Given the description of an element on the screen output the (x, y) to click on. 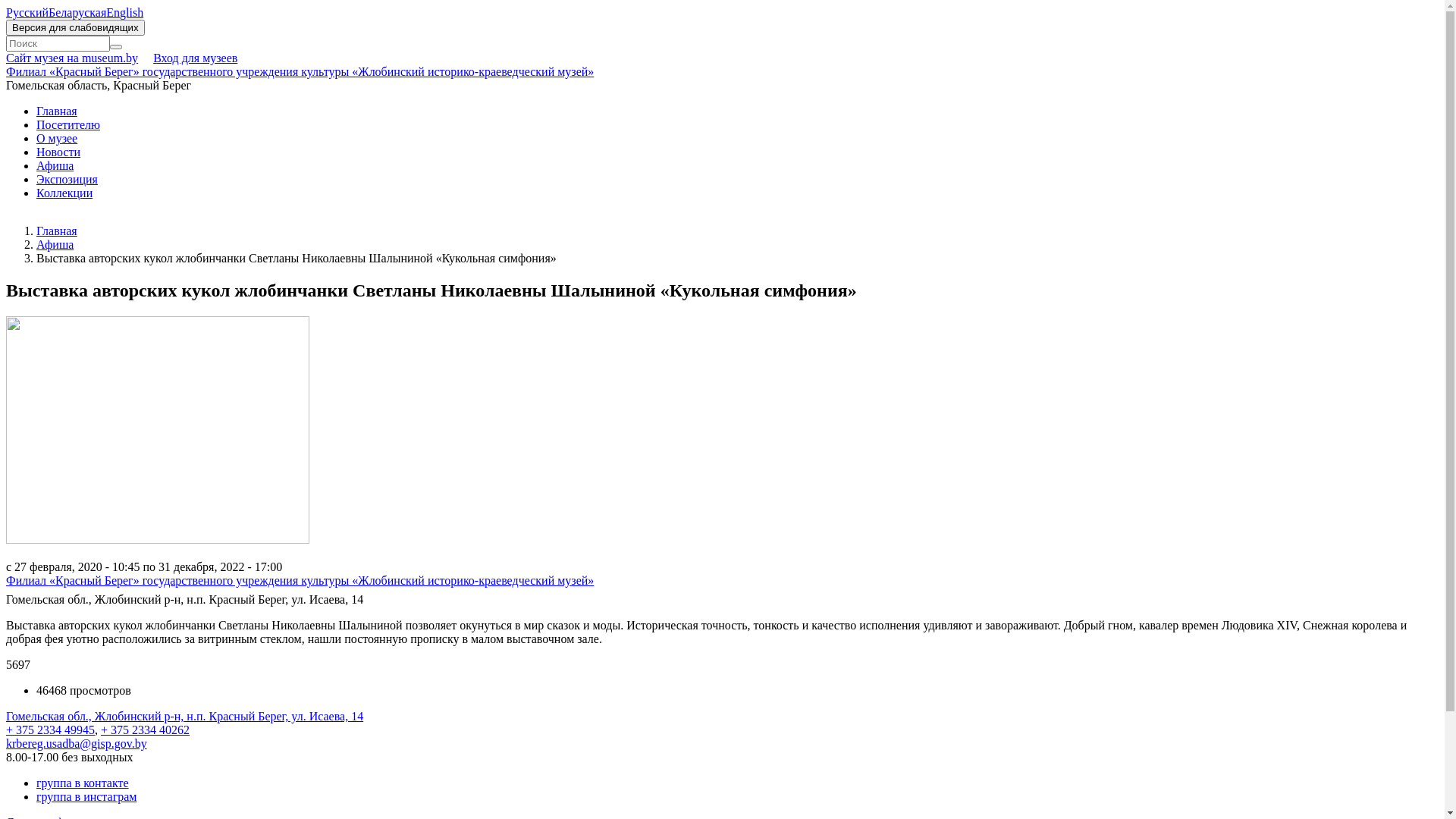
+ 375 2334 40262 Element type: text (144, 729)
krbereg.usadba@gisp.gov.by Element type: text (76, 743)
English Element type: text (124, 12)
+ 375 2334 49945 Element type: text (50, 729)
